Given the description of an element on the screen output the (x, y) to click on. 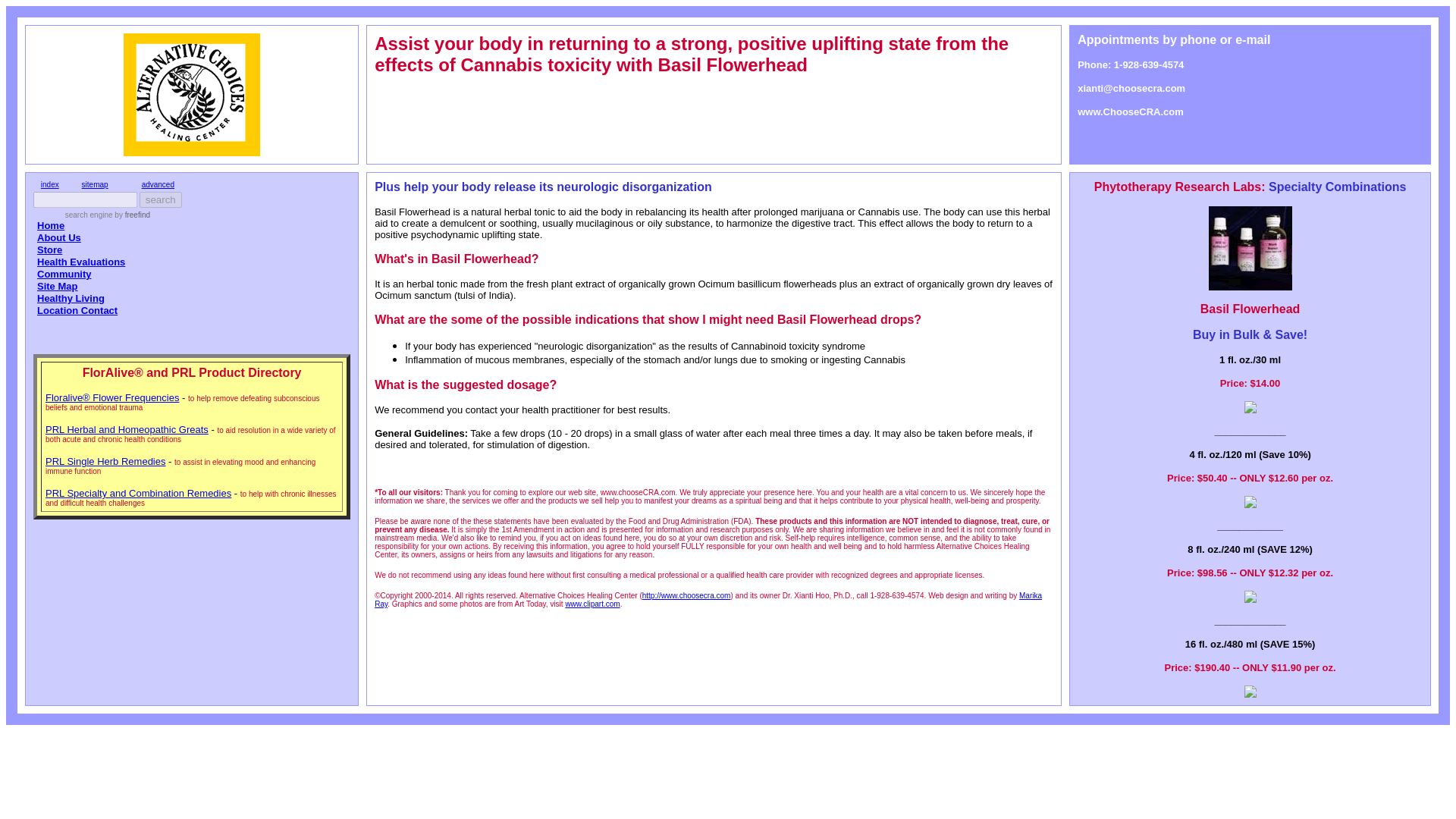
PRL Specialty and Combination Remedies (138, 492)
About Us (59, 237)
search (160, 199)
Health Evaluations (81, 261)
www.clipart.com (592, 603)
by freefind (131, 214)
Marika Ray (708, 599)
advanced (157, 184)
Store (49, 249)
Community (64, 274)
Site Map (57, 285)
Home (50, 225)
search (160, 199)
search engine (89, 214)
PRL Herbal and Homeopathic Greats (126, 429)
